Given the description of an element on the screen output the (x, y) to click on. 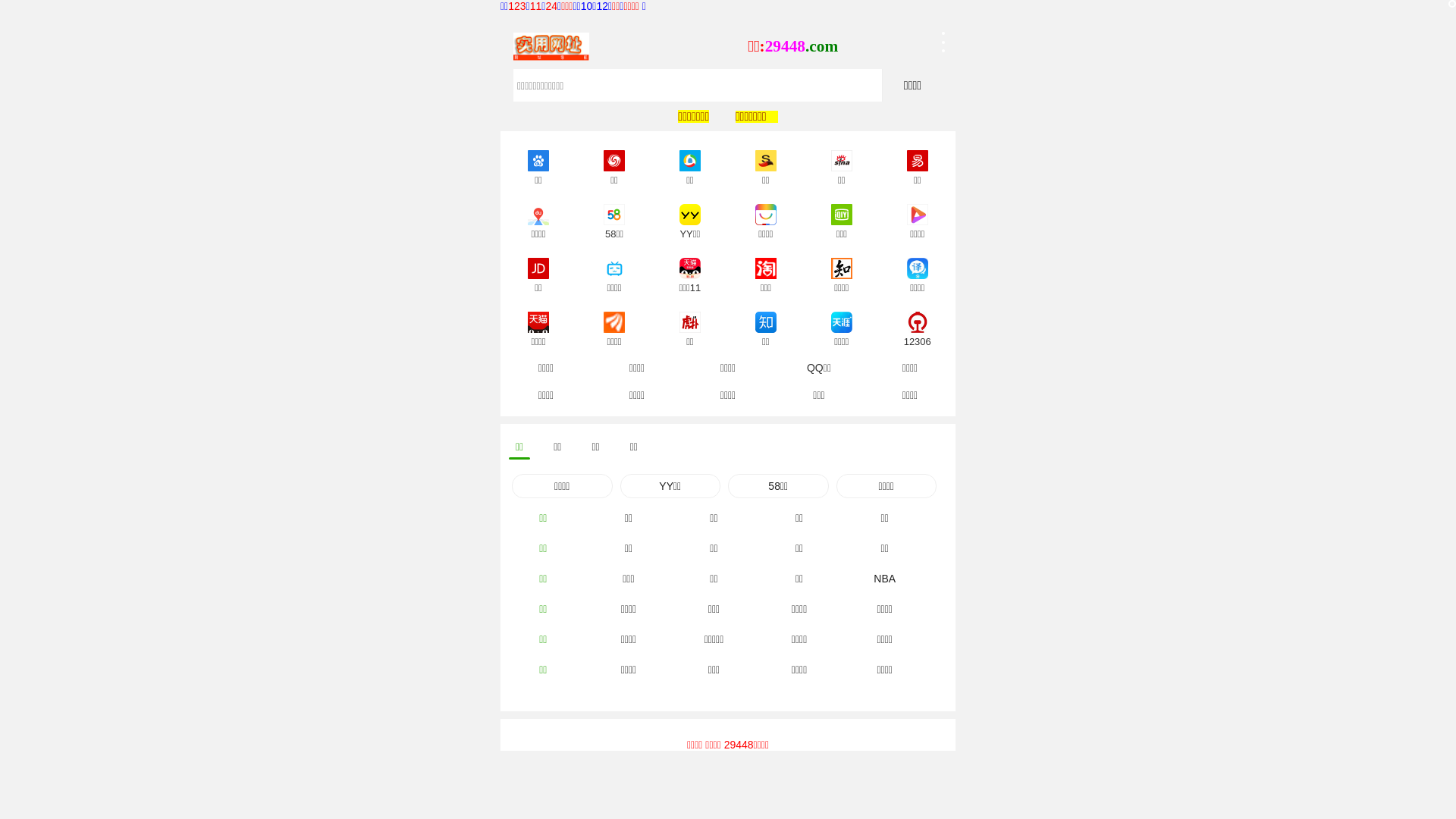
NBA Element type: text (884, 578)
12306 Element type: text (917, 319)
